Given the description of an element on the screen output the (x, y) to click on. 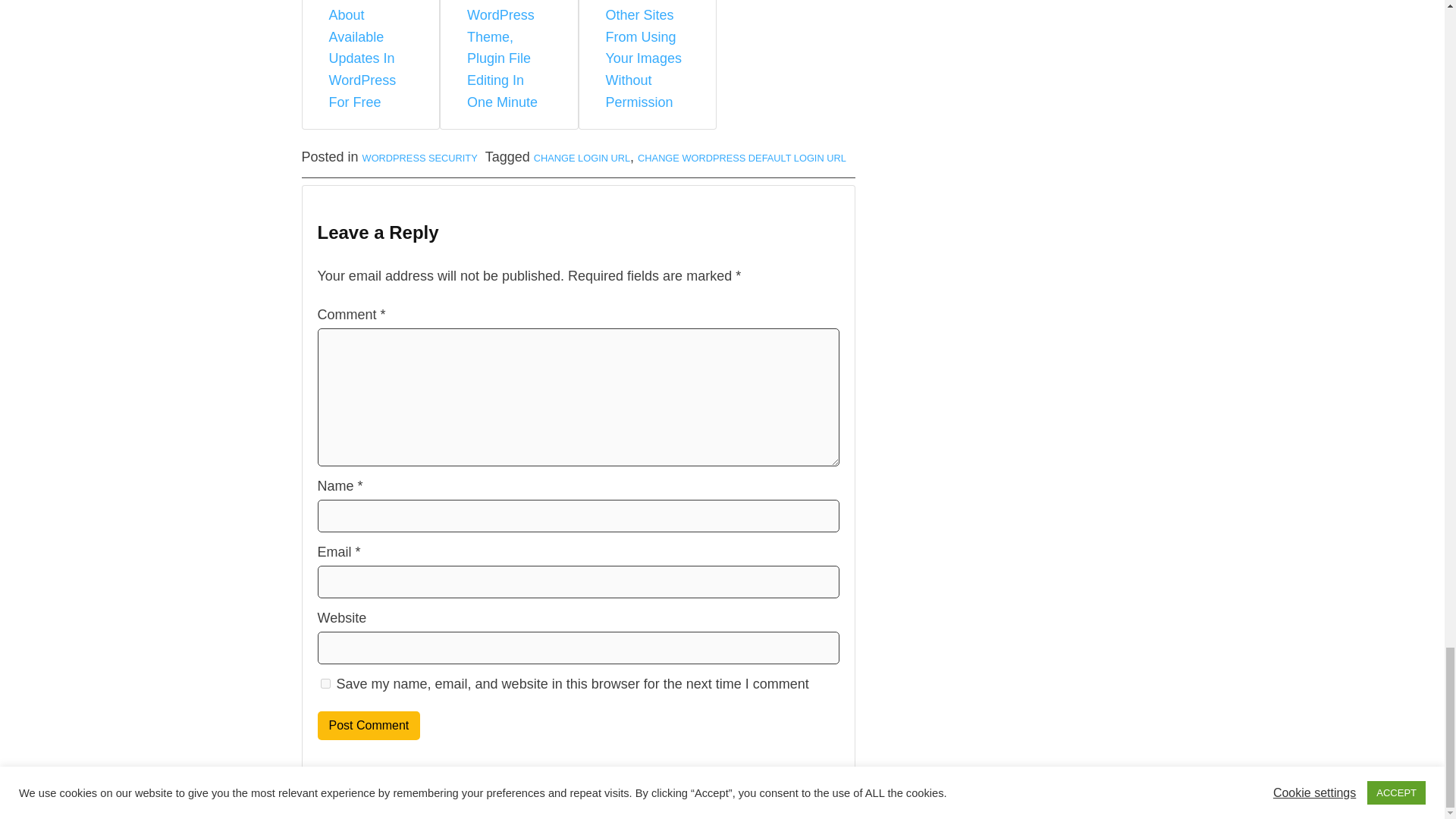
WORDPRESS SECURITY (419, 157)
Post Comment (368, 725)
CHANGE WORDPRESS DEFAULT LOGIN URL (741, 157)
CHANGE LOGIN URL (582, 157)
yes (325, 683)
Post Comment (368, 725)
